Given the description of an element on the screen output the (x, y) to click on. 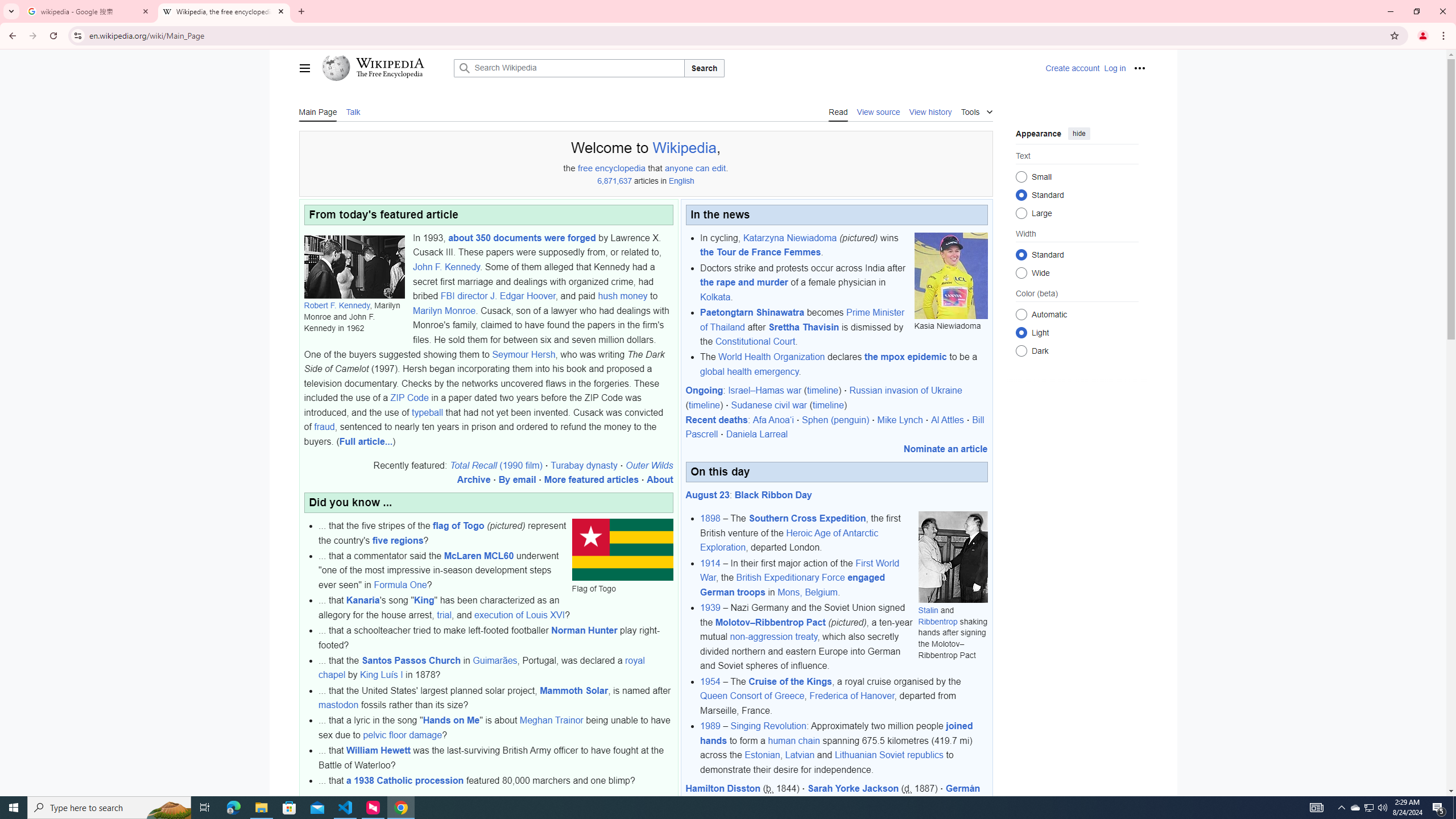
AutomationID: pt-createaccount-2 (1072, 67)
a 1938 Catholic procession (405, 780)
Southern Cross Expedition (807, 518)
fraud (324, 426)
Read (837, 111)
anyone can edit (694, 167)
By email (516, 479)
Total Recall (1990 film) (496, 465)
Hamilton Disston (723, 788)
AutomationID: ca-nstab-main (317, 111)
Wide (1020, 272)
